Given the description of an element on the screen output the (x, y) to click on. 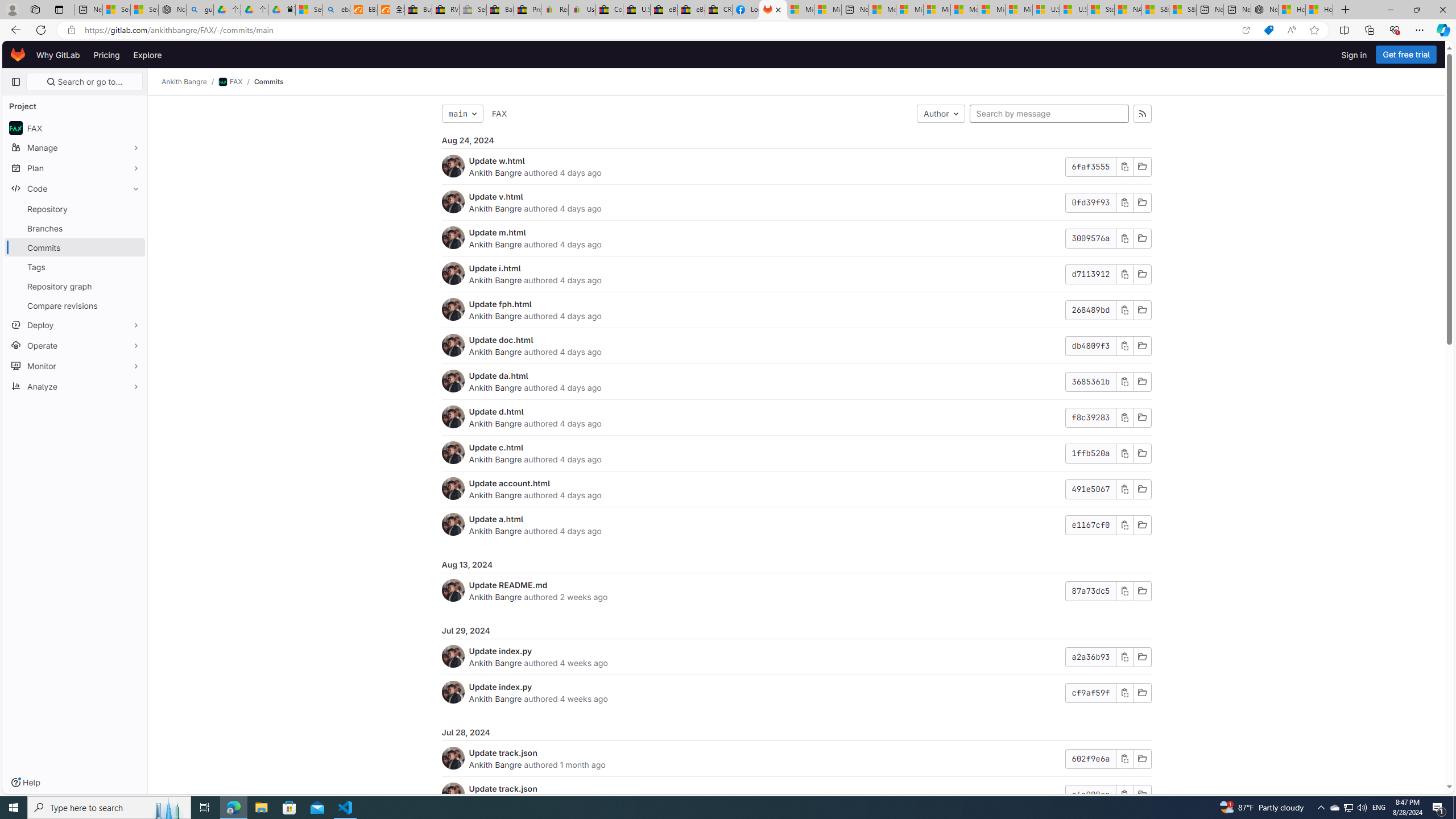
Update a.htmlAnkith Bangre authored 4 days agoe1167cf0 (796, 524)
Update i.html (494, 267)
Update d.htmlAnkith Bangre authored 4 days agof8c39283 (796, 417)
Repository (74, 208)
Class: s16 gl-icon gl-button-icon  (1124, 794)
Search by message (1048, 113)
Update doc.htmlAnkith Bangre authored 4 days agodb4809f3 (796, 345)
Update w.html (496, 160)
Update da.htmlAnkith Bangre authored 4 days ago3685361b (796, 381)
Jul 28, 2024 (796, 732)
